Given the description of an element on the screen output the (x, y) to click on. 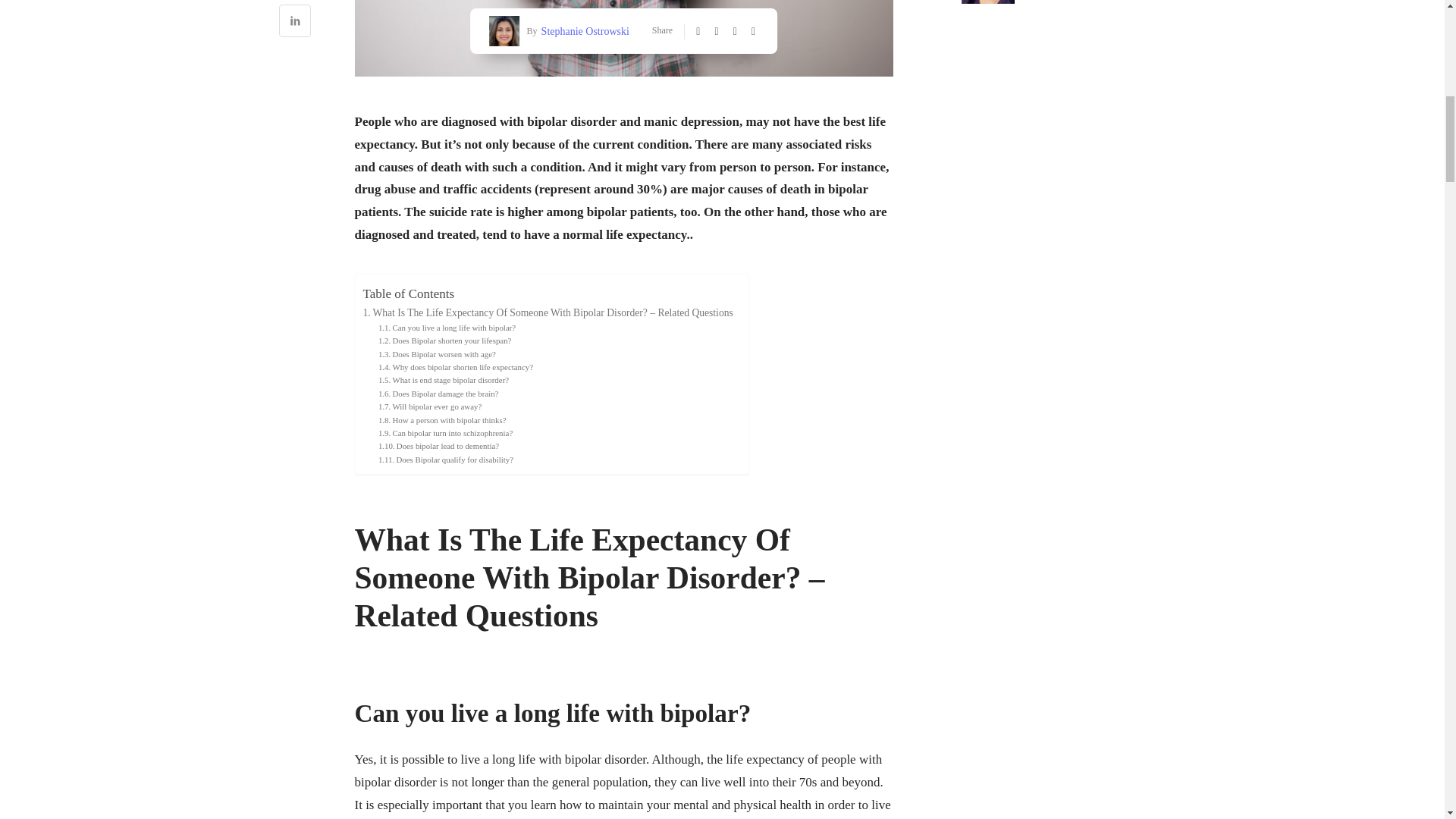
Does Bipolar worsen with age? (437, 354)
What is end stage bipolar disorder? (443, 379)
Does bipolar lead to dementia? (438, 445)
Posts by Stephanie Ostrowski (582, 30)
Share on Linkedin (295, 22)
Why does bipolar shorten life expectancy? (455, 367)
Can you live a long life with bipolar? (446, 327)
Does Bipolar shorten your lifespan? (445, 340)
Does Bipolar qualify for disability? (445, 459)
Can bipolar turn into schizophrenia? (445, 432)
